Given the description of an element on the screen output the (x, y) to click on. 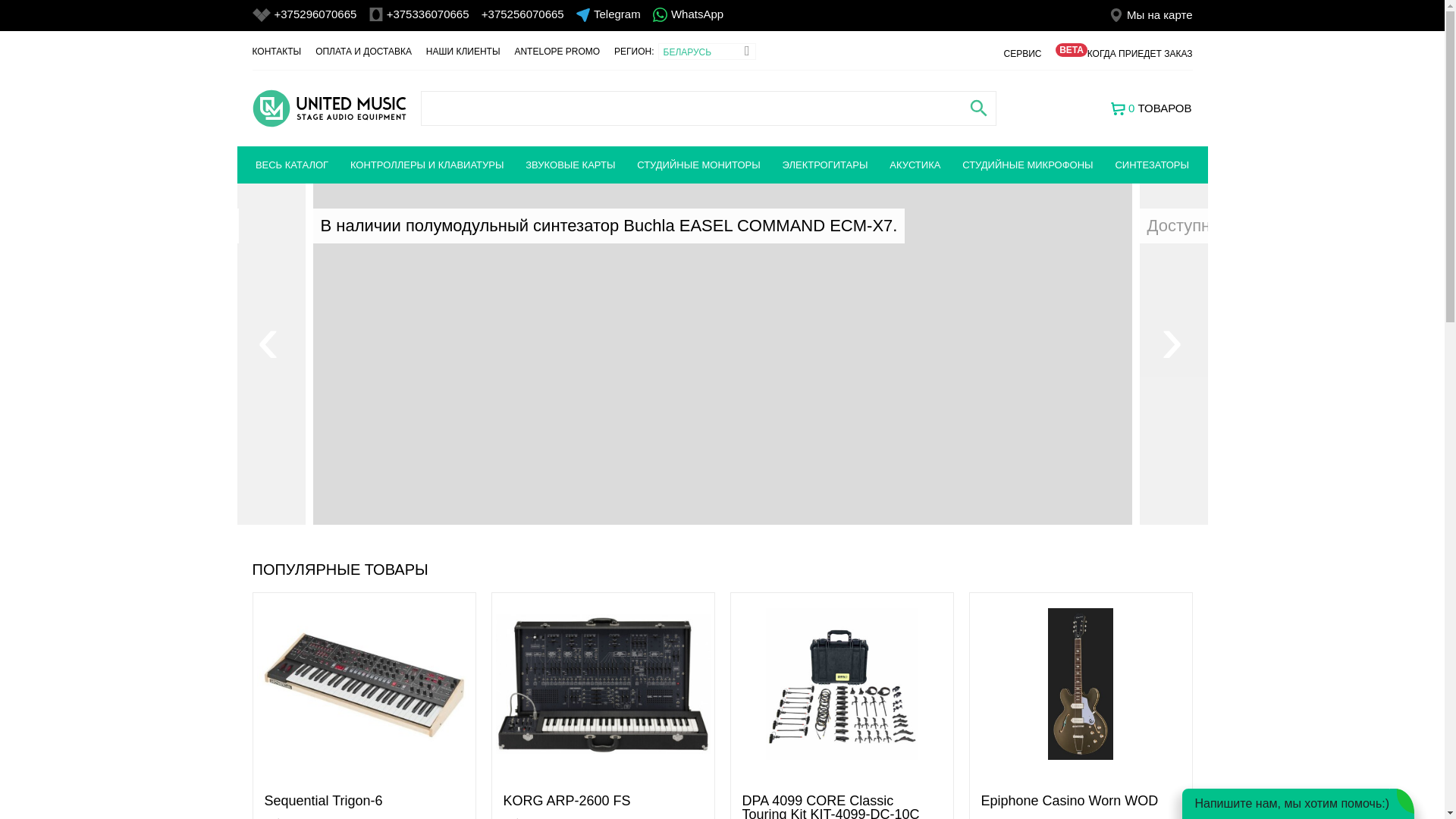
KORG ARP-2600 FS Element type: text (566, 800)
+375296070665 Element type: text (315, 13)
Telegram Element type: text (616, 13)
Epiphone Casino Worn WOD Element type: text (1069, 800)
United Music Element type: hover (328, 108)
WhatsApp Element type: text (697, 14)
+375336070665 Element type: text (427, 13)
Sequential Trigon-6 Element type: text (322, 800)
ANTELOPE PROMO Element type: text (556, 51)
+375256070665 Element type: text (522, 13)
